Given the description of an element on the screen output the (x, y) to click on. 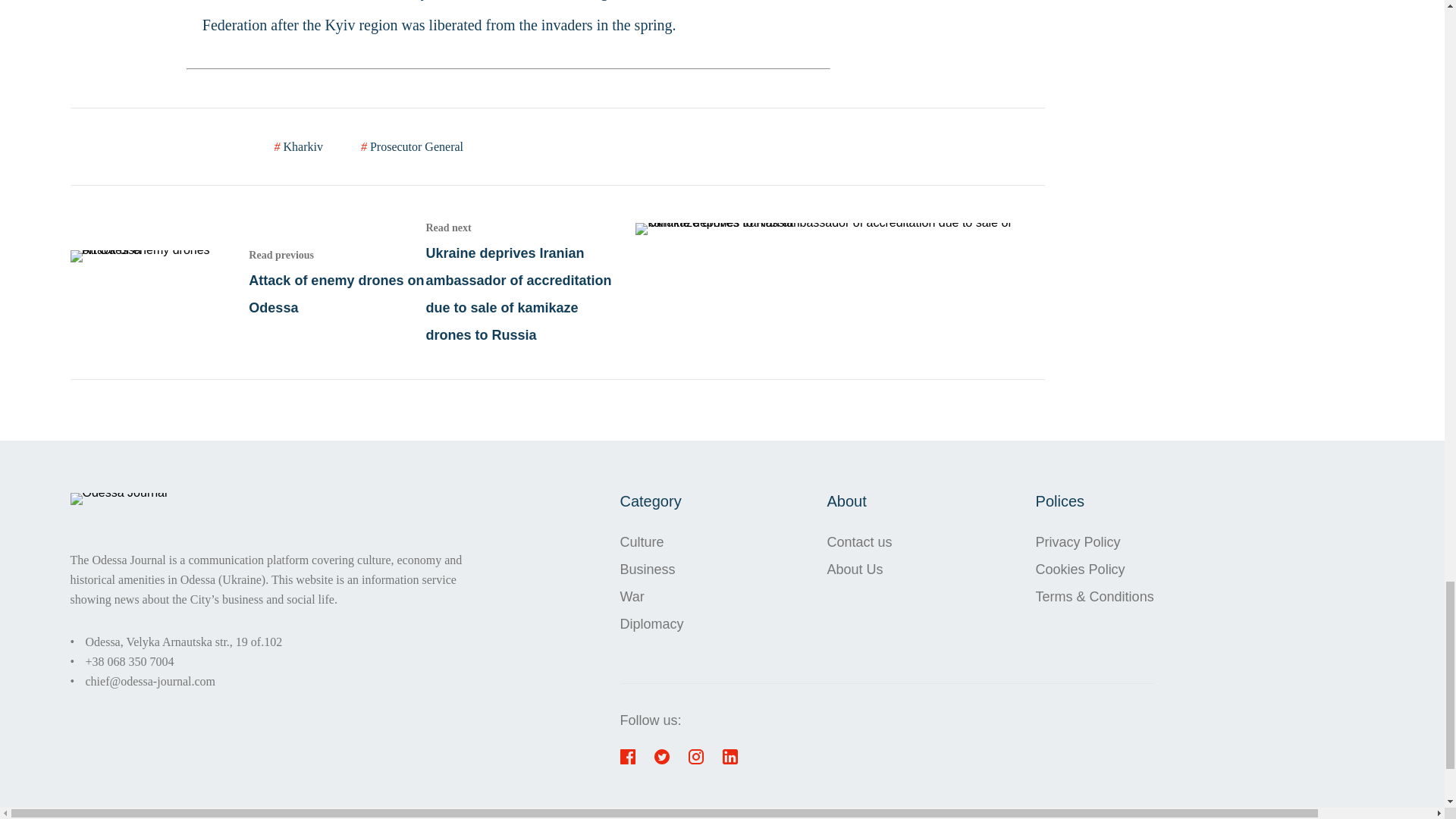
Culture (247, 281)
Privacy Policy (652, 541)
War (1094, 541)
About Us (652, 595)
Odessa, Velyka Arnautska str., 19 of.102 (859, 568)
Kharkiv (183, 641)
Cookies Policy (299, 145)
Diplomacy (1094, 568)
Prosecutor General (652, 623)
